Given the description of an element on the screen output the (x, y) to click on. 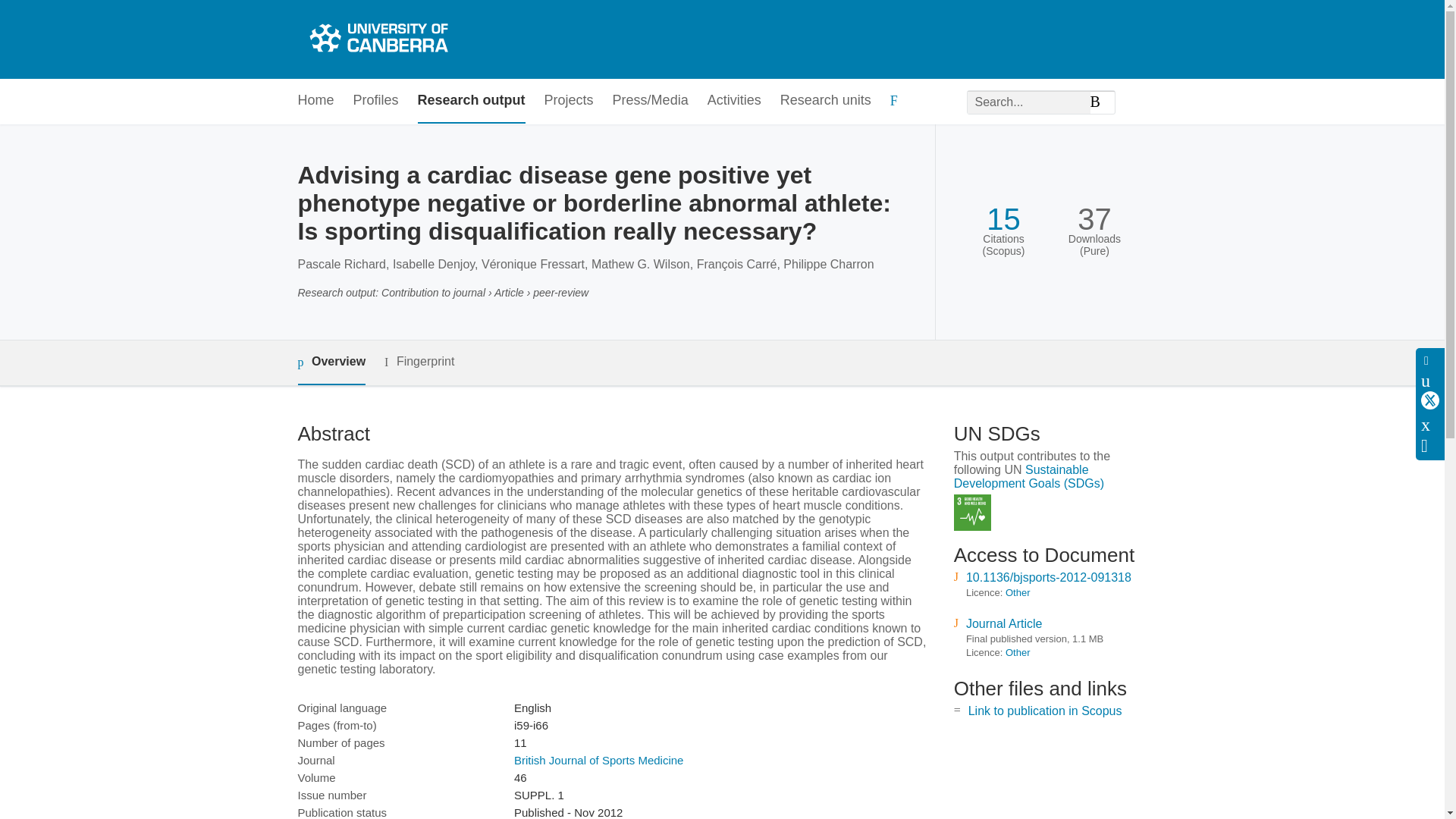
Other (1018, 652)
Fingerprint (419, 362)
Journal Article (1004, 623)
Research output (471, 100)
Projects (569, 100)
University of Canberra Research Portal Home (377, 39)
Research units (825, 100)
Other (1018, 592)
Activities (734, 100)
